Given the description of an element on the screen output the (x, y) to click on. 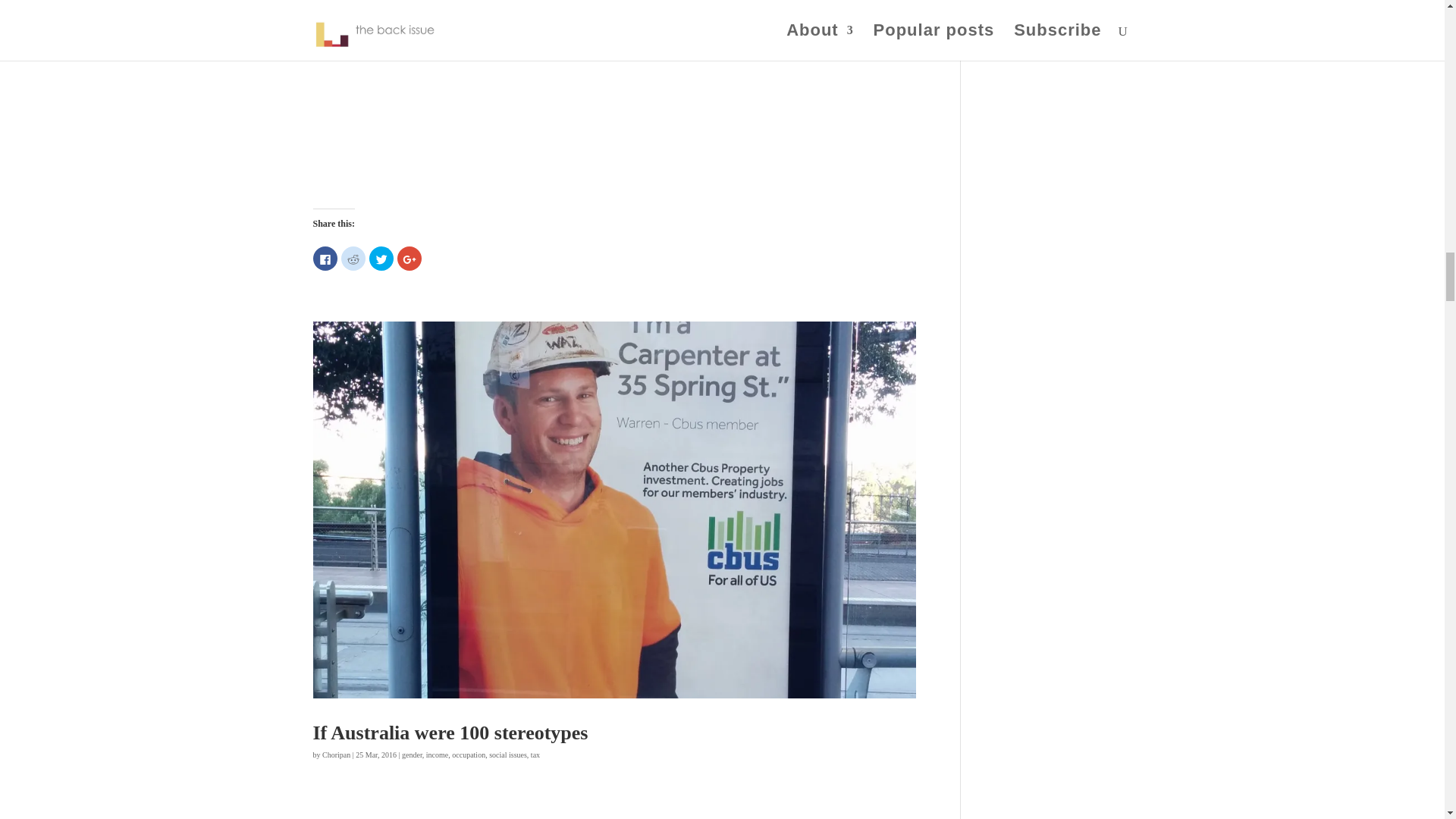
Click to share on Facebook (324, 258)
Click to share on Twitter (380, 258)
Click to share on Reddit (352, 258)
Posts by Choripan (335, 755)
